Given the description of an element on the screen output the (x, y) to click on. 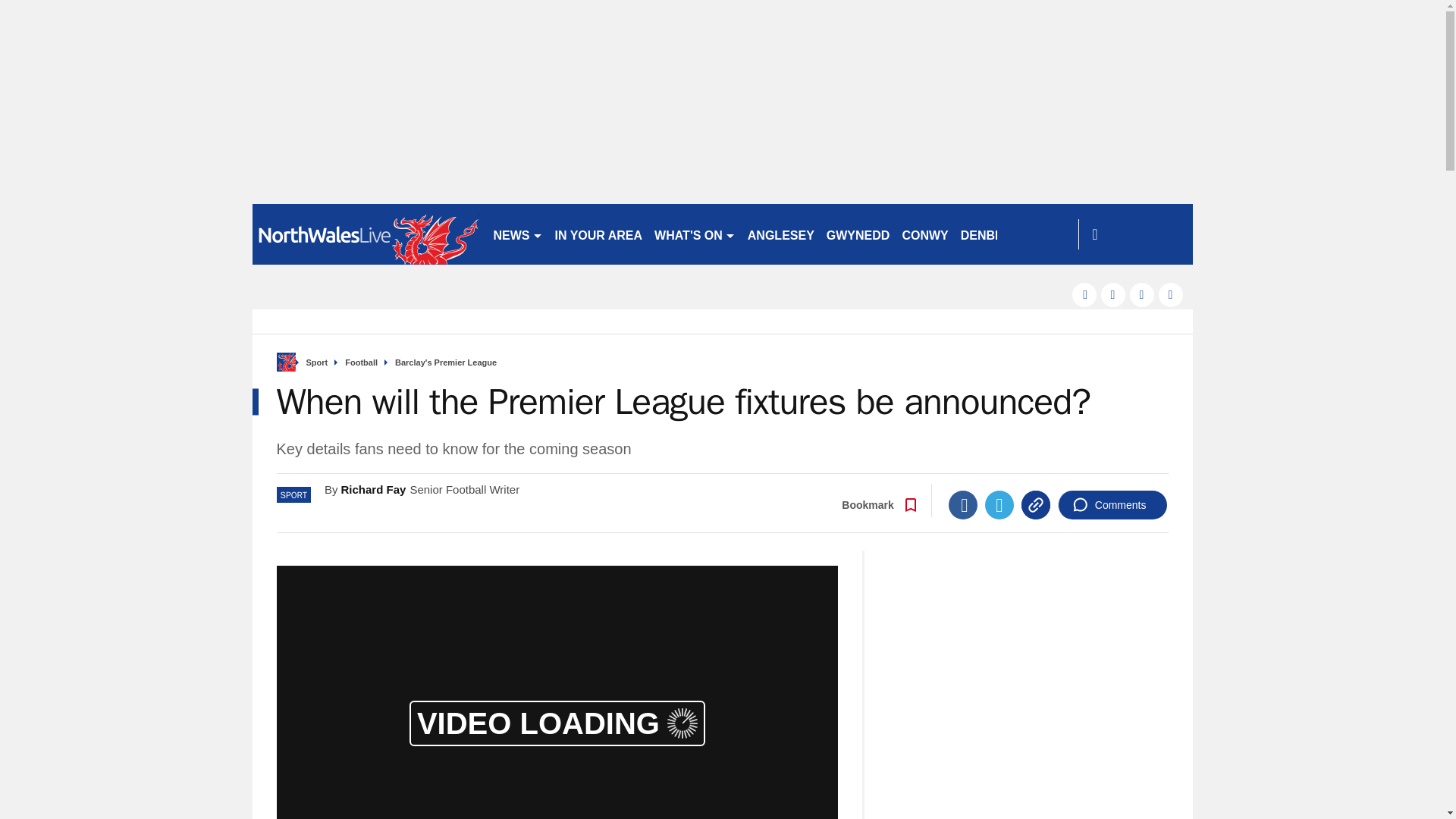
facebook (1083, 294)
CONWY (924, 233)
pinterest (1141, 294)
IN YOUR AREA (598, 233)
GWYNEDD (858, 233)
Twitter (999, 504)
DENBIGHSHIRE (1007, 233)
ANGLESEY (781, 233)
Facebook (962, 504)
WHAT'S ON (694, 233)
